Given the description of an element on the screen output the (x, y) to click on. 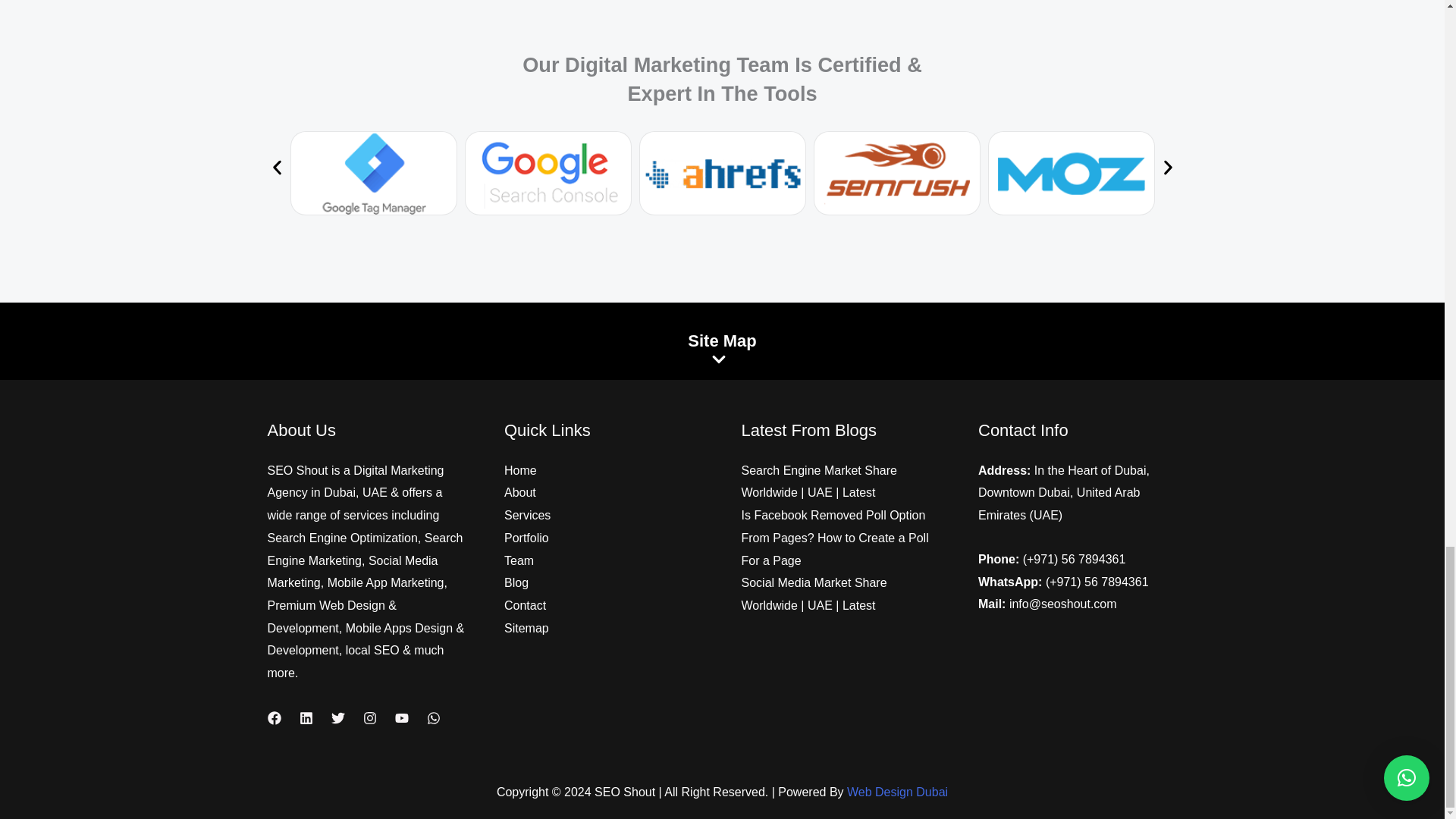
Site Map (722, 340)
